Given the description of an element on the screen output the (x, y) to click on. 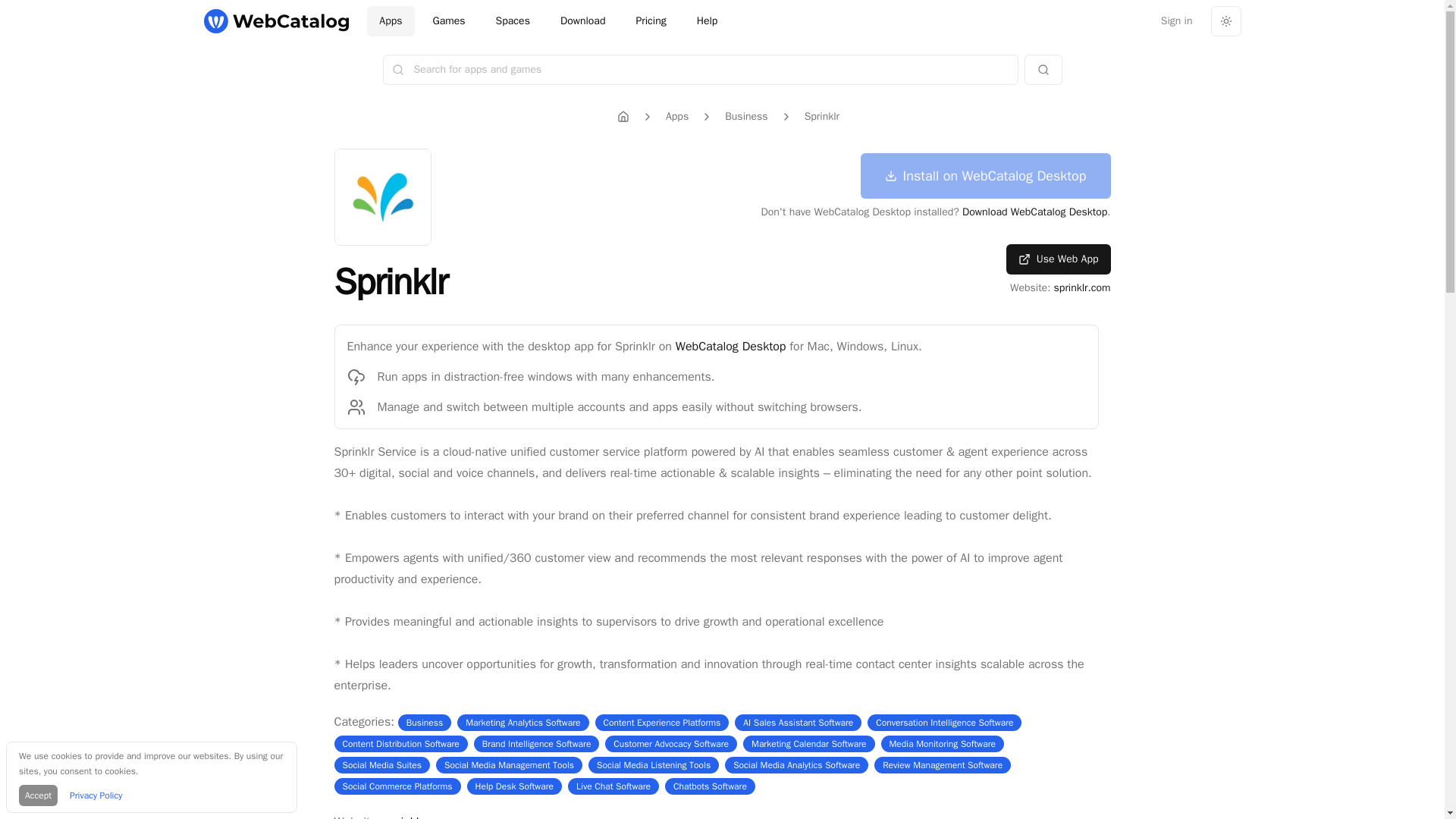
Social Media Analytics Software (796, 765)
Search (1042, 69)
Spaces (512, 20)
Appearance (1224, 20)
Help (707, 20)
Content Distribution Software (401, 743)
Media Monitoring Software (942, 743)
Social Media Management Tools (508, 765)
Download WebCatalog Desktop (1034, 211)
WebCatalog Desktop (730, 346)
